Given the description of an element on the screen output the (x, y) to click on. 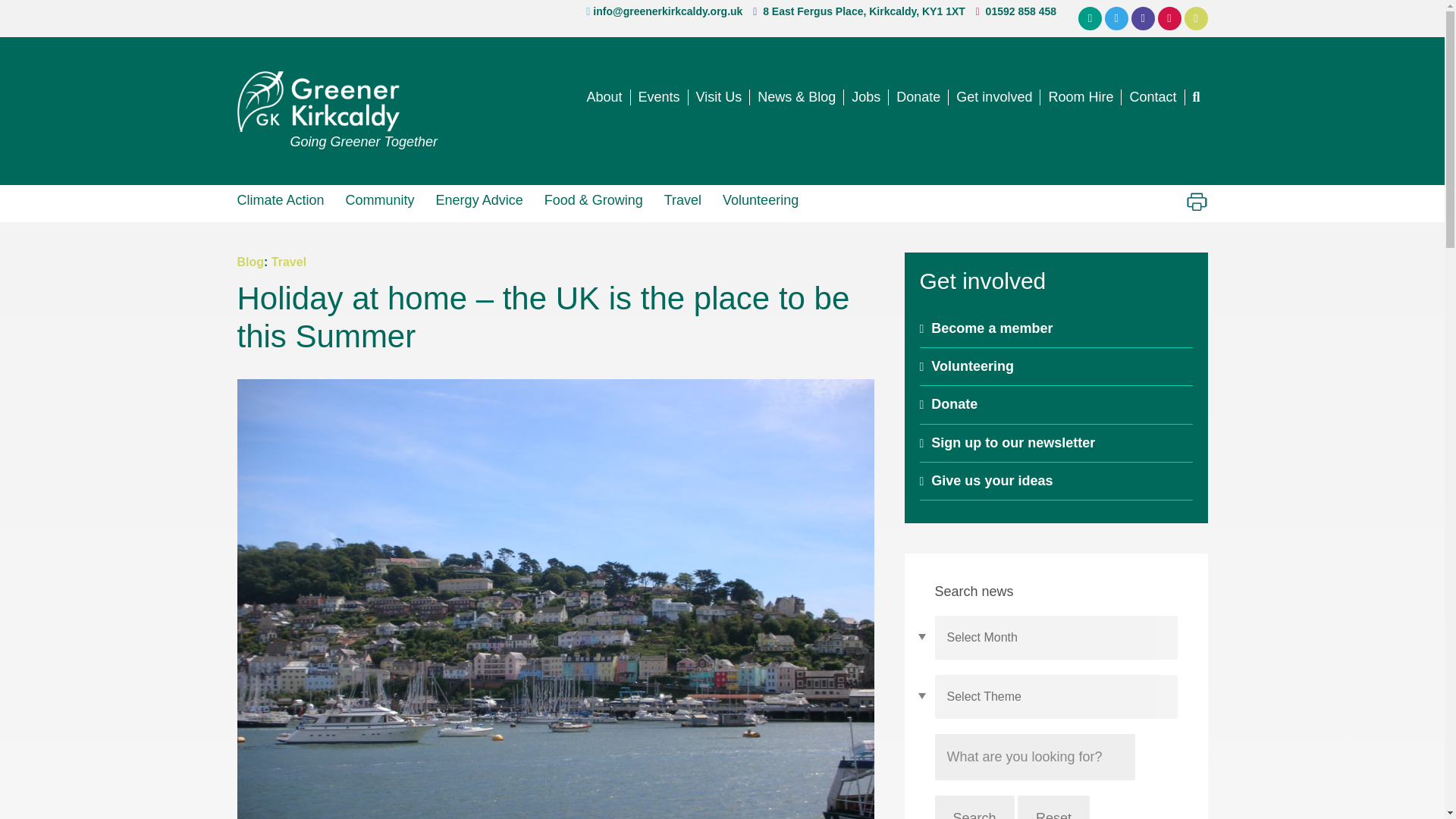
Open search (1196, 97)
Mail (1090, 18)
Climate Action (284, 199)
Events (659, 97)
Greener Kirkcaldy (335, 101)
Community (379, 199)
Jobs (866, 97)
YouTube (1196, 18)
Volunteering (760, 199)
